Given the description of an element on the screen output the (x, y) to click on. 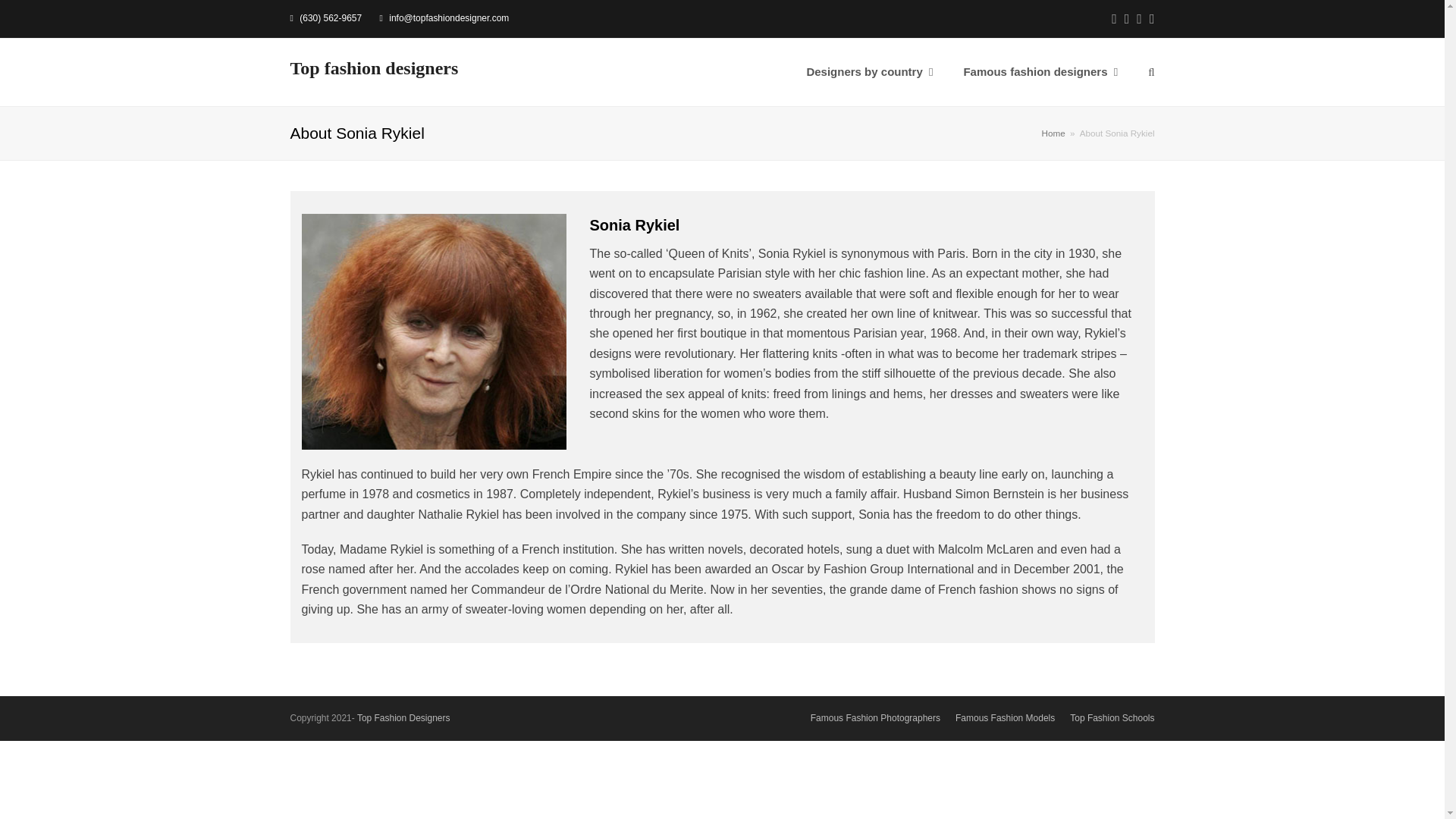
Designers by country (868, 72)
Famous fashion designers (1040, 72)
Top fashion designers (373, 67)
